Given the description of an element on the screen output the (x, y) to click on. 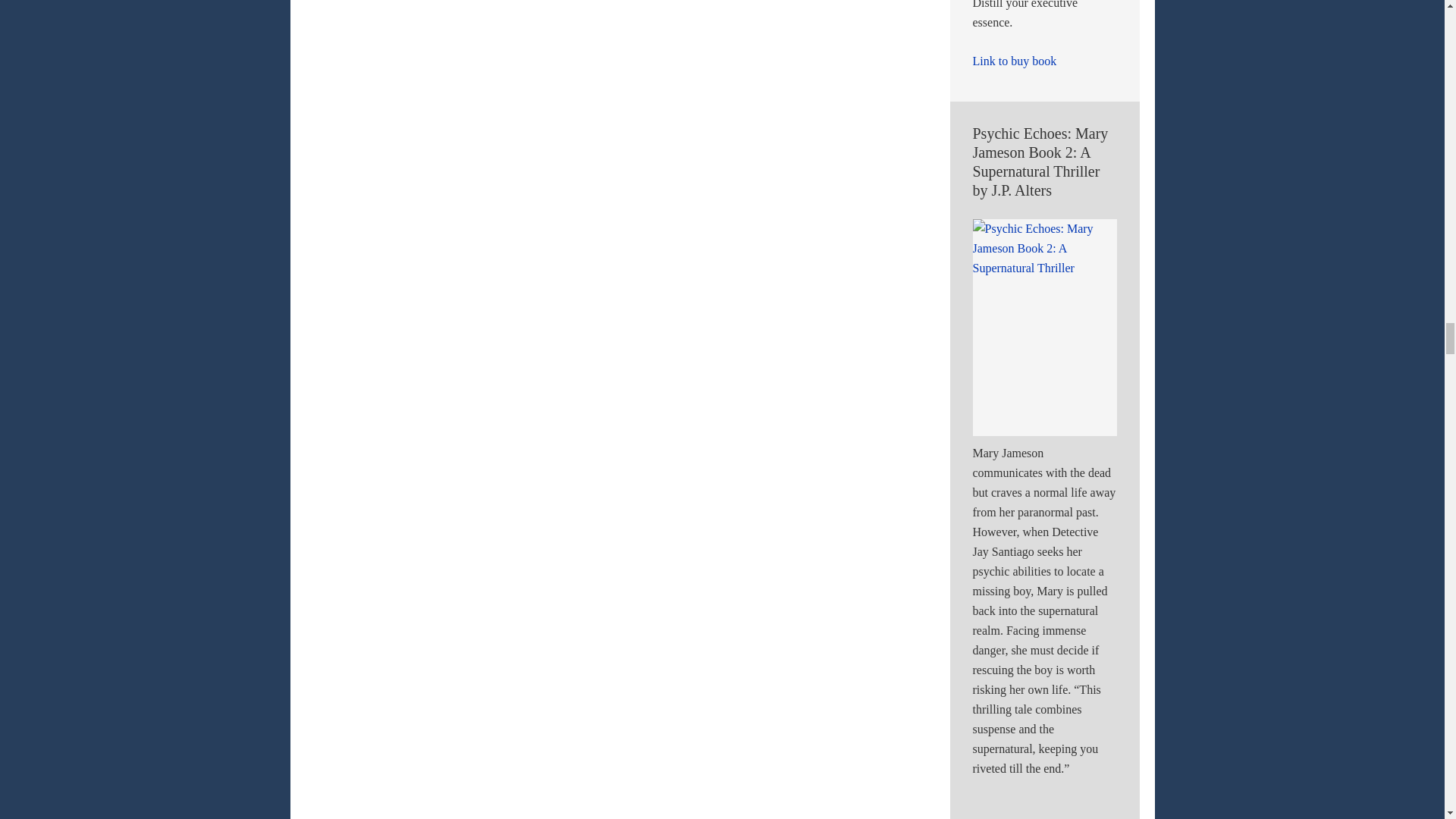
PSYCHIC ECHOES HD mp4 1 (1161, 808)
